Given the description of an element on the screen output the (x, y) to click on. 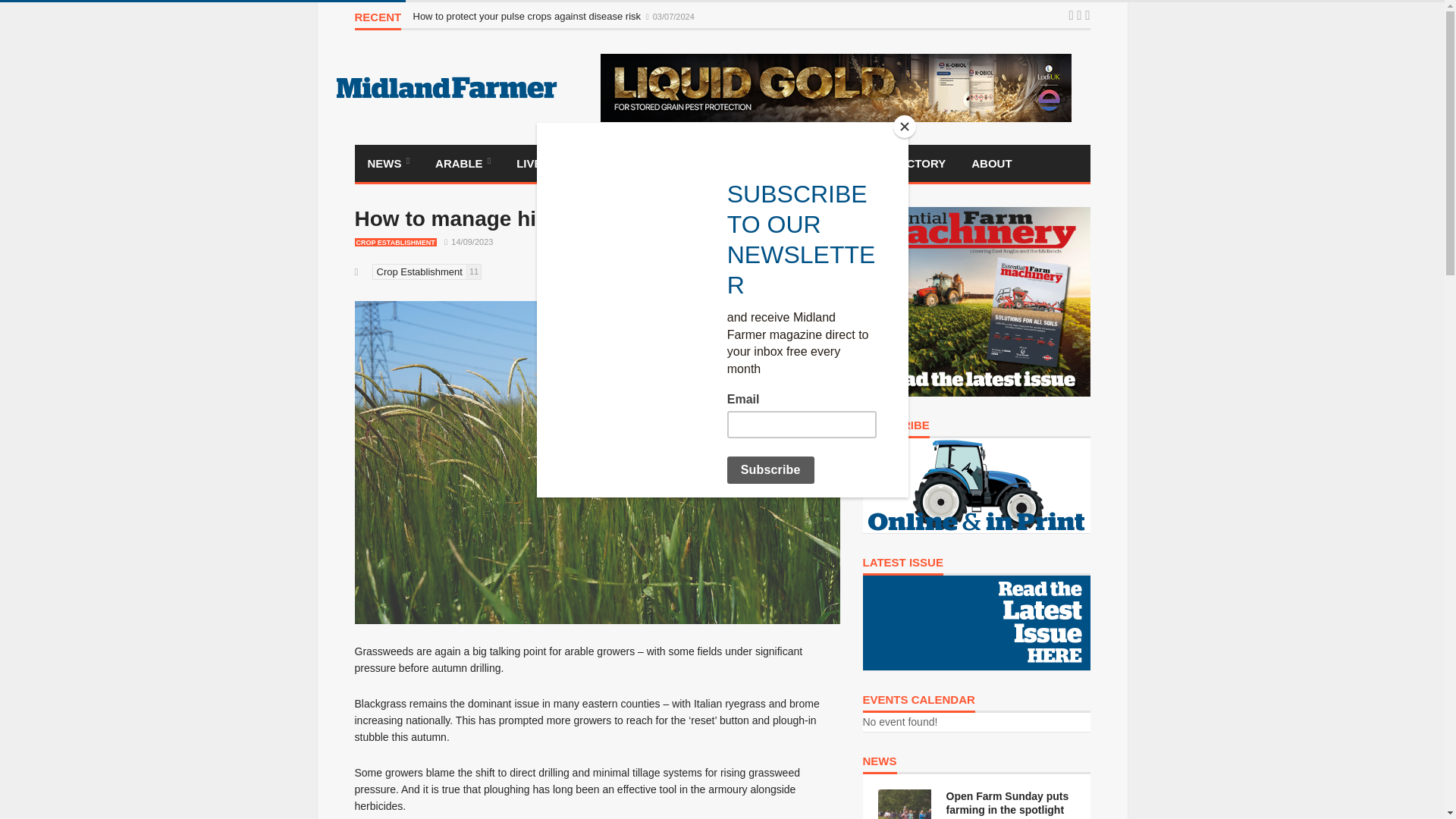
Arable (462, 162)
RECENT (378, 20)
How to protect your pulse crops against disease risk (527, 16)
News (389, 162)
